Given the description of an element on the screen output the (x, y) to click on. 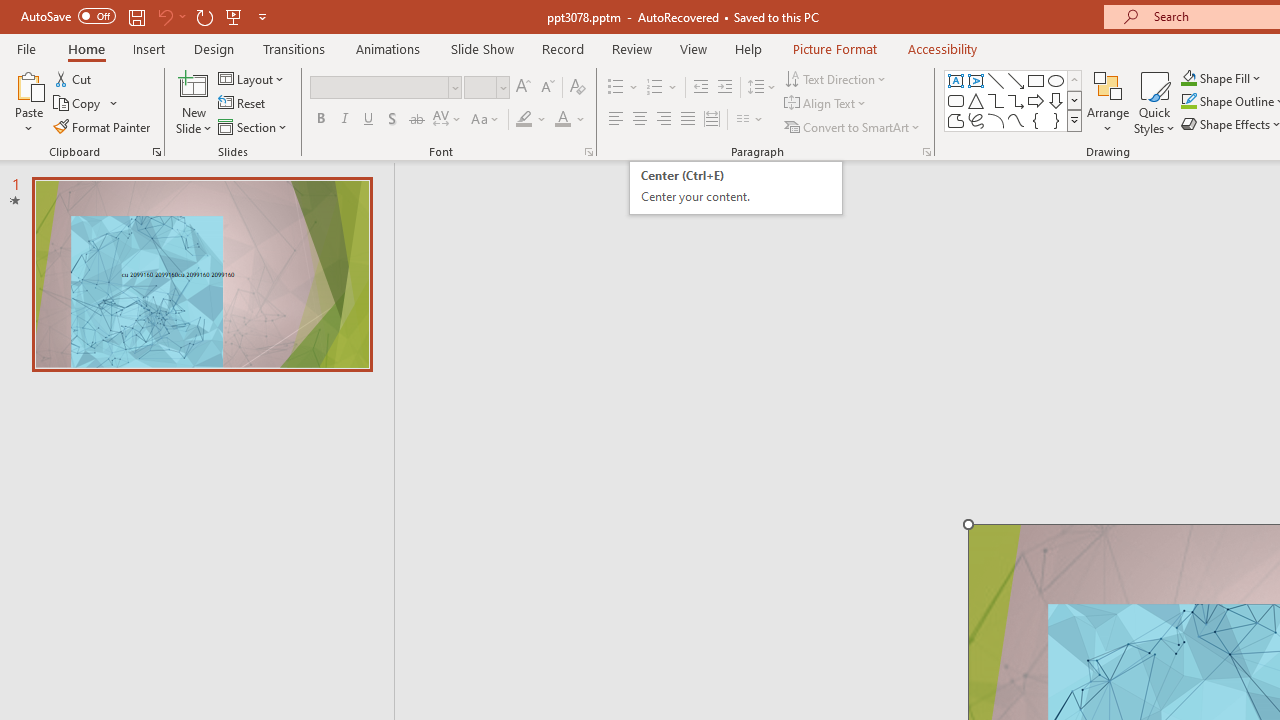
Shape Fill Dark Green, Accent 2 (1188, 78)
